Given the description of an element on the screen output the (x, y) to click on. 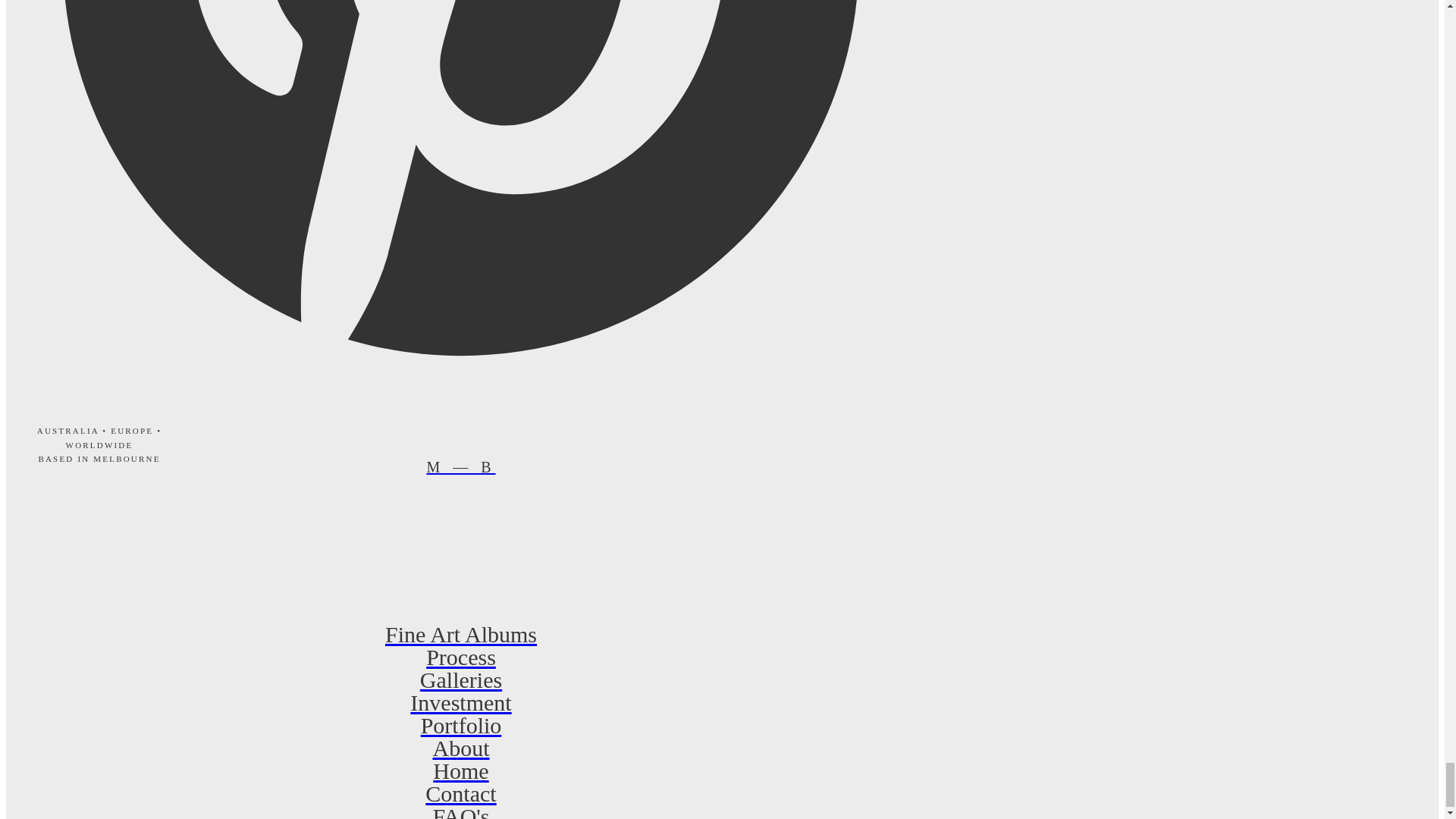
Portfolio (460, 725)
Home (460, 771)
Galleries (460, 680)
Investment (460, 702)
Process (460, 657)
About (460, 748)
Contact (460, 793)
Fine Art Albums (460, 634)
